Given the description of an element on the screen output the (x, y) to click on. 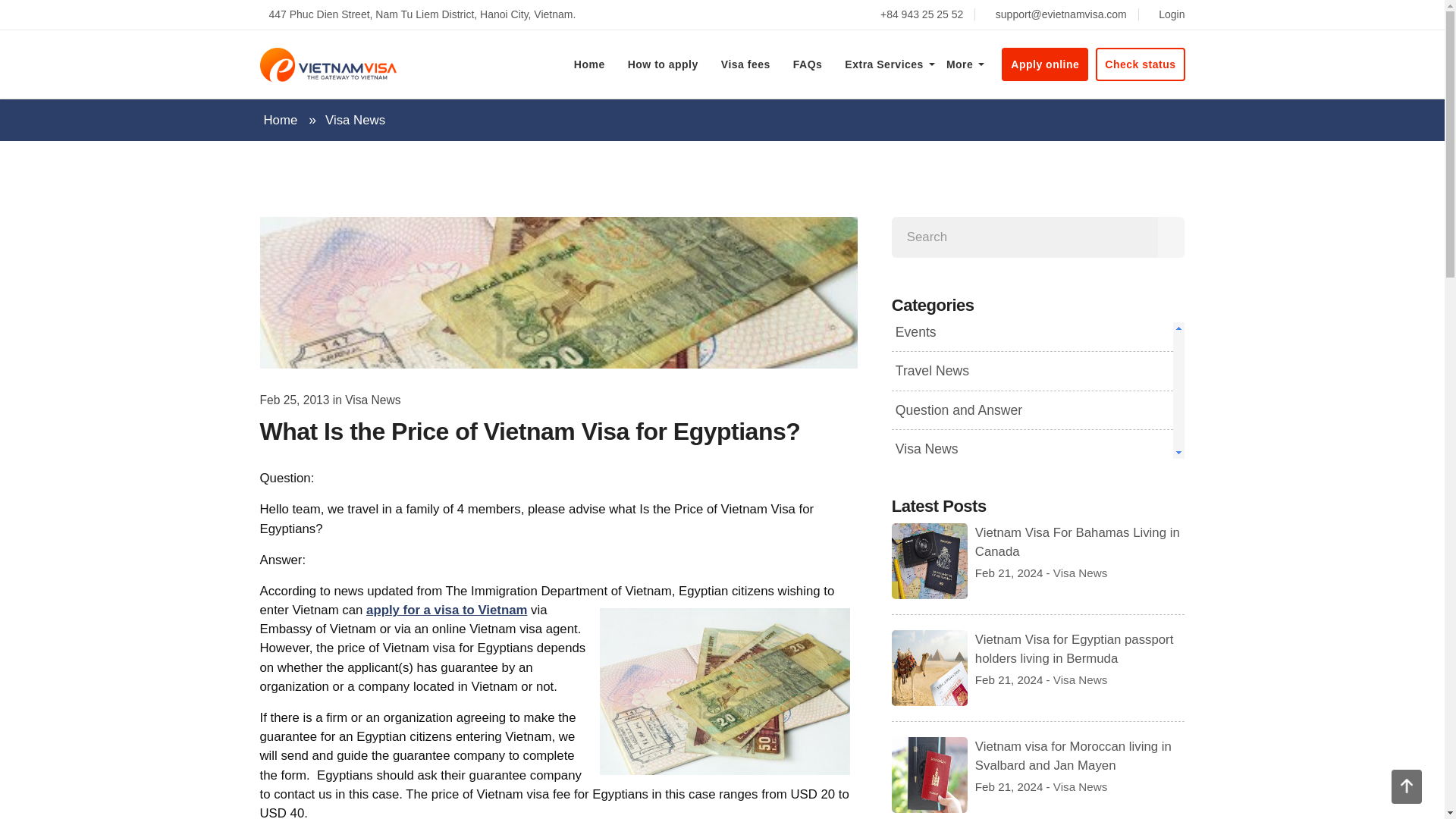
Visa News (354, 120)
Login (1167, 14)
Home (588, 63)
More (959, 63)
What is the price of Vietnam visa for Egyptians (724, 691)
Apply online (1044, 64)
Visa fees (745, 63)
Extra Services (883, 63)
apply for a visa to Vietnam (446, 609)
How to apply (662, 63)
Events (913, 331)
FAQs (807, 63)
Check status (1140, 64)
Home (1038, 390)
